Given the description of an element on the screen output the (x, y) to click on. 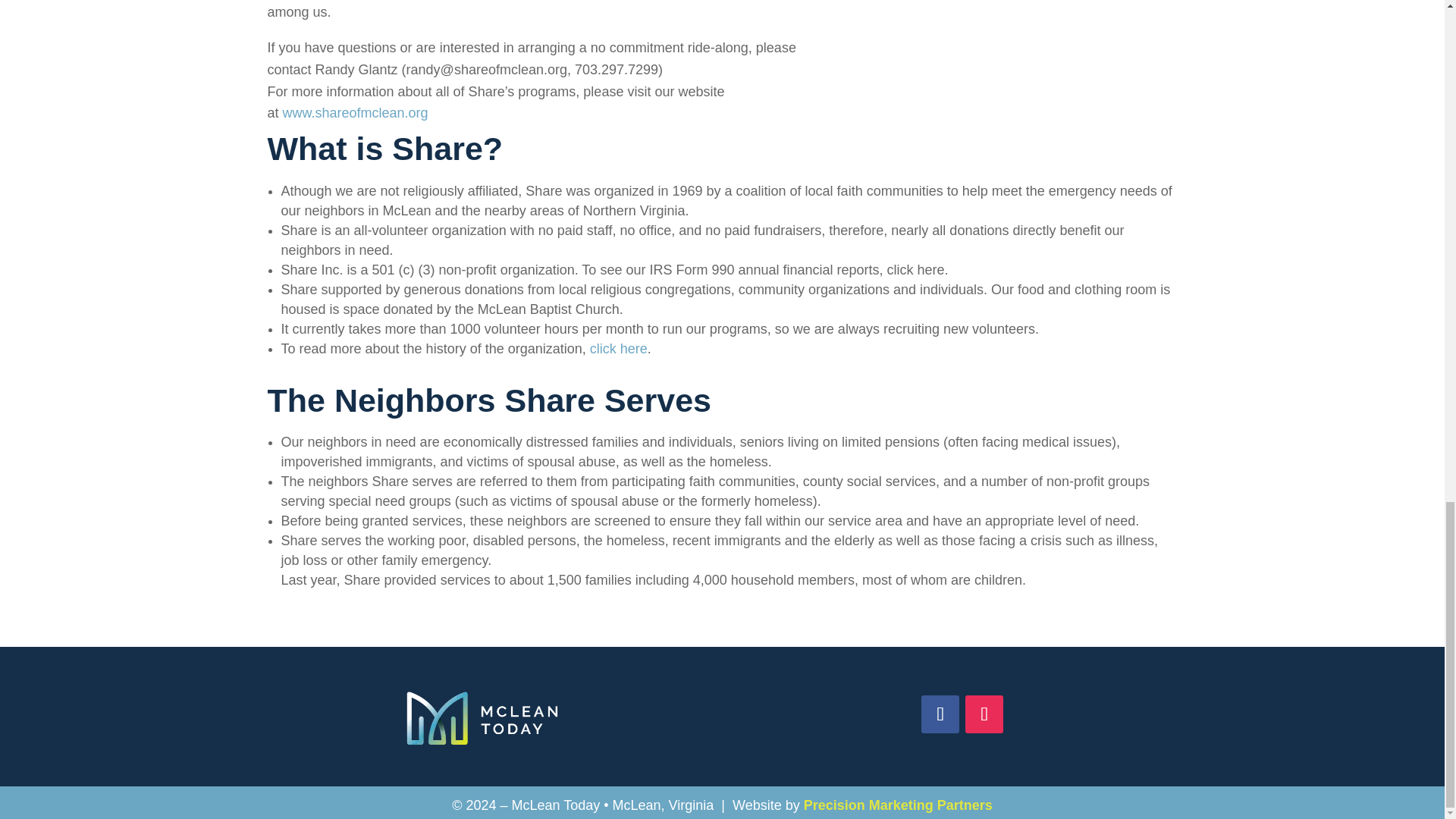
Follow on Facebook (940, 714)
Precision Marketing Partners (897, 805)
www.shareofmclean.org (355, 112)
click here (618, 348)
Follow on Instagram (984, 714)
